Given the description of an element on the screen output the (x, y) to click on. 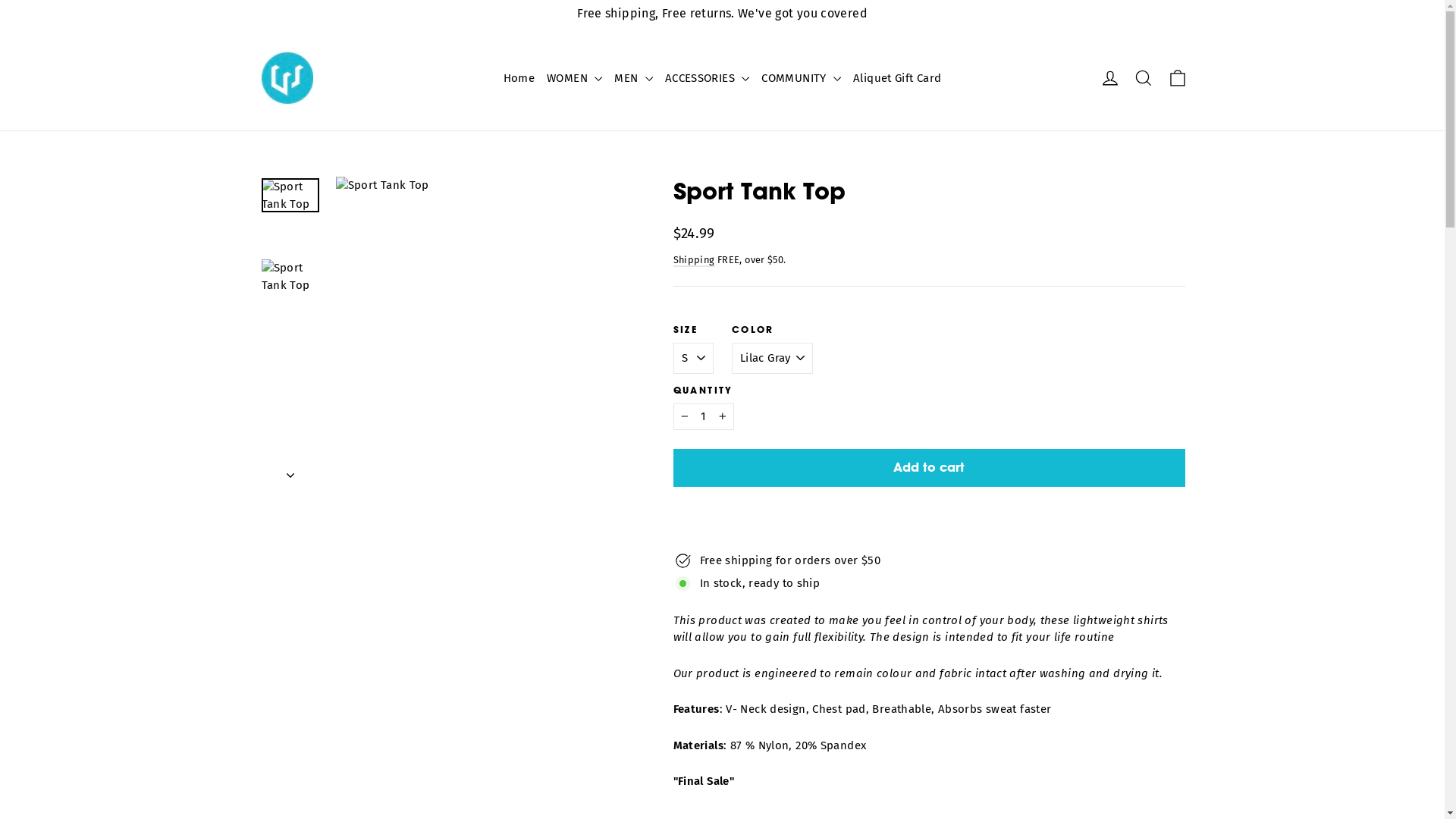
ACCESSORIES Element type: text (707, 78)
Log in Element type: text (1109, 77)
Skip to content Element type: text (0, 0)
COMMUNITY Element type: text (801, 78)
MEN Element type: text (633, 78)
Home Element type: text (519, 78)
+ Element type: text (722, 416)
Cart Element type: text (1176, 77)
WOMEN Element type: text (574, 78)
Aliquet Gift Card Element type: text (897, 78)
Search Element type: text (1143, 77)
Add to cart Element type: text (929, 467)
Shipping Element type: text (694, 259)
